Given the description of an element on the screen output the (x, y) to click on. 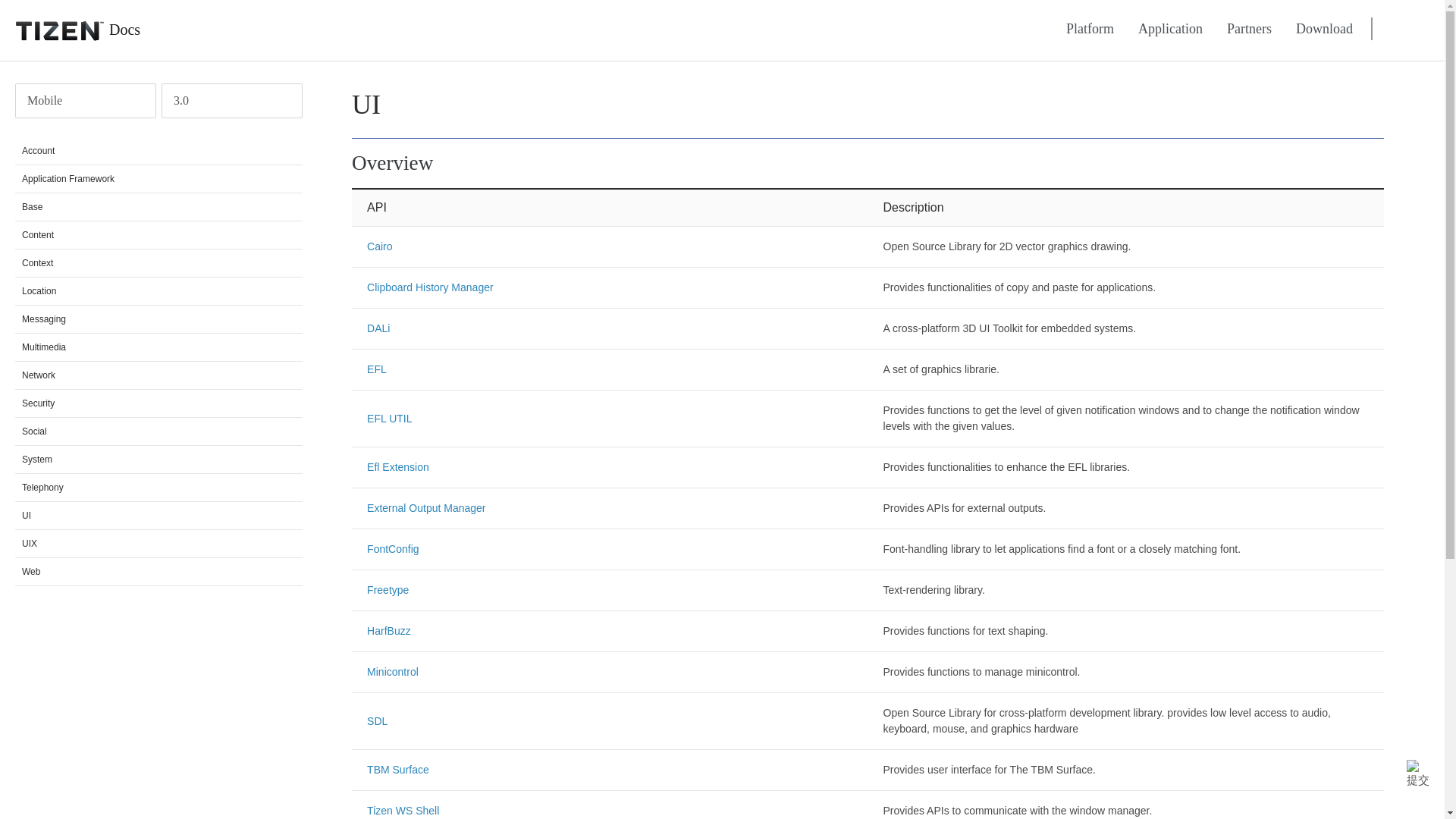
Application (1169, 29)
Docs (69, 30)
Platform (1089, 29)
Download (1324, 29)
Partners (1249, 29)
